Given the description of an element on the screen output the (x, y) to click on. 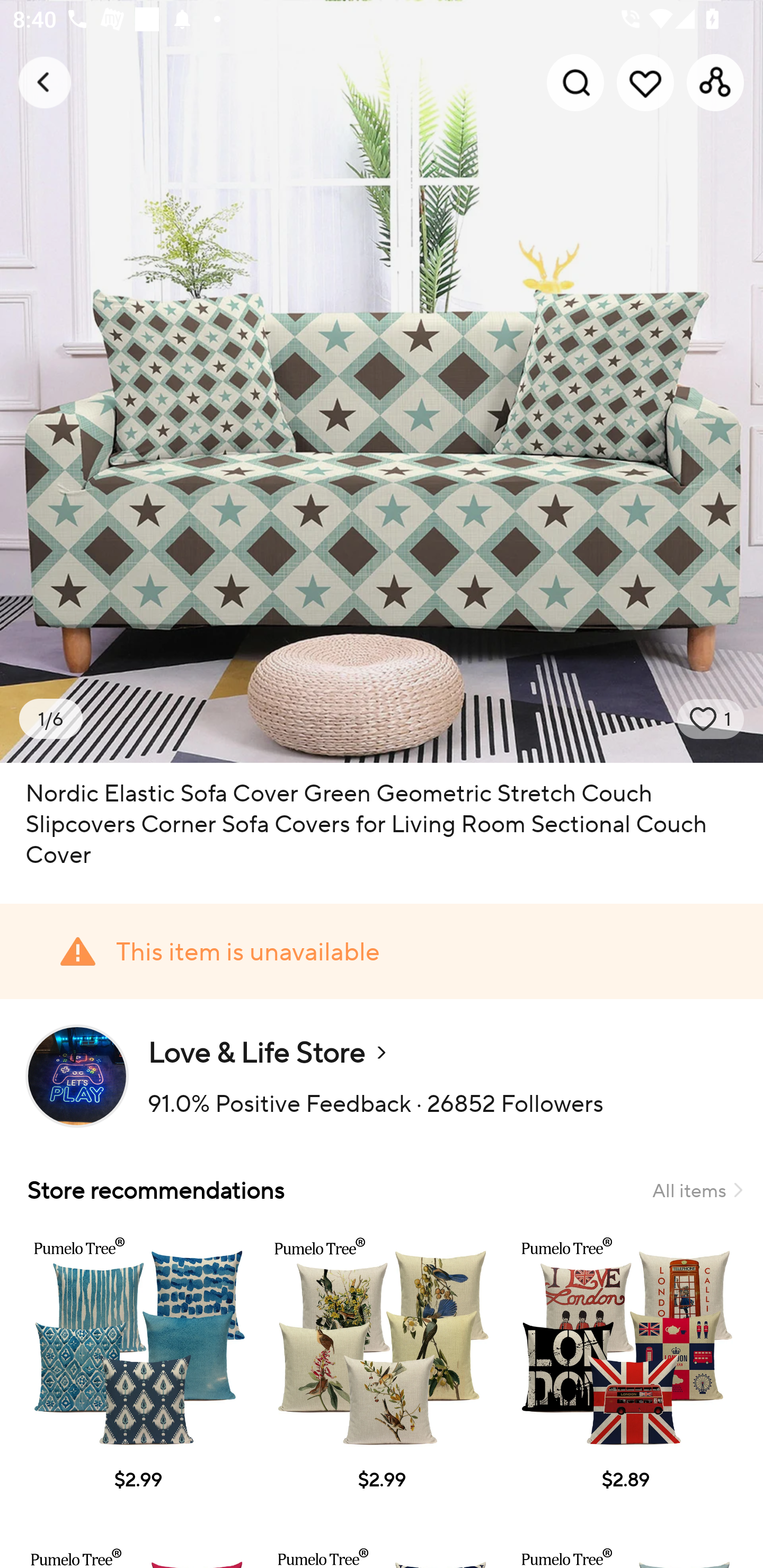
Navigate up (44, 82)
wish state 1 (710, 718)
All items (697, 1190)
$2.99 (137, 1377)
$2.99 (381, 1377)
$2.89 (625, 1377)
